Given the description of an element on the screen output the (x, y) to click on. 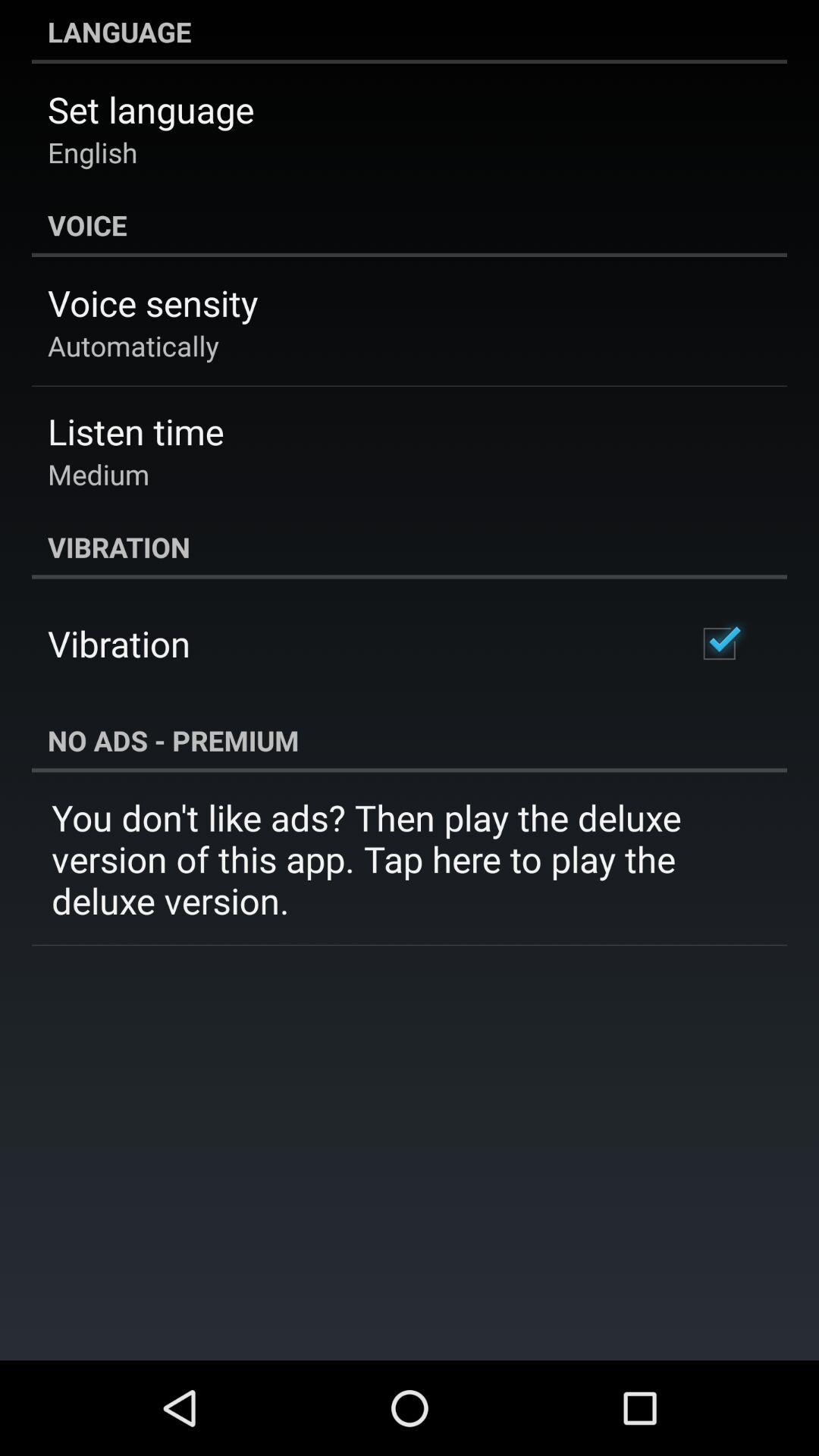
launch checkbox on the right (719, 643)
